Given the description of an element on the screen output the (x, y) to click on. 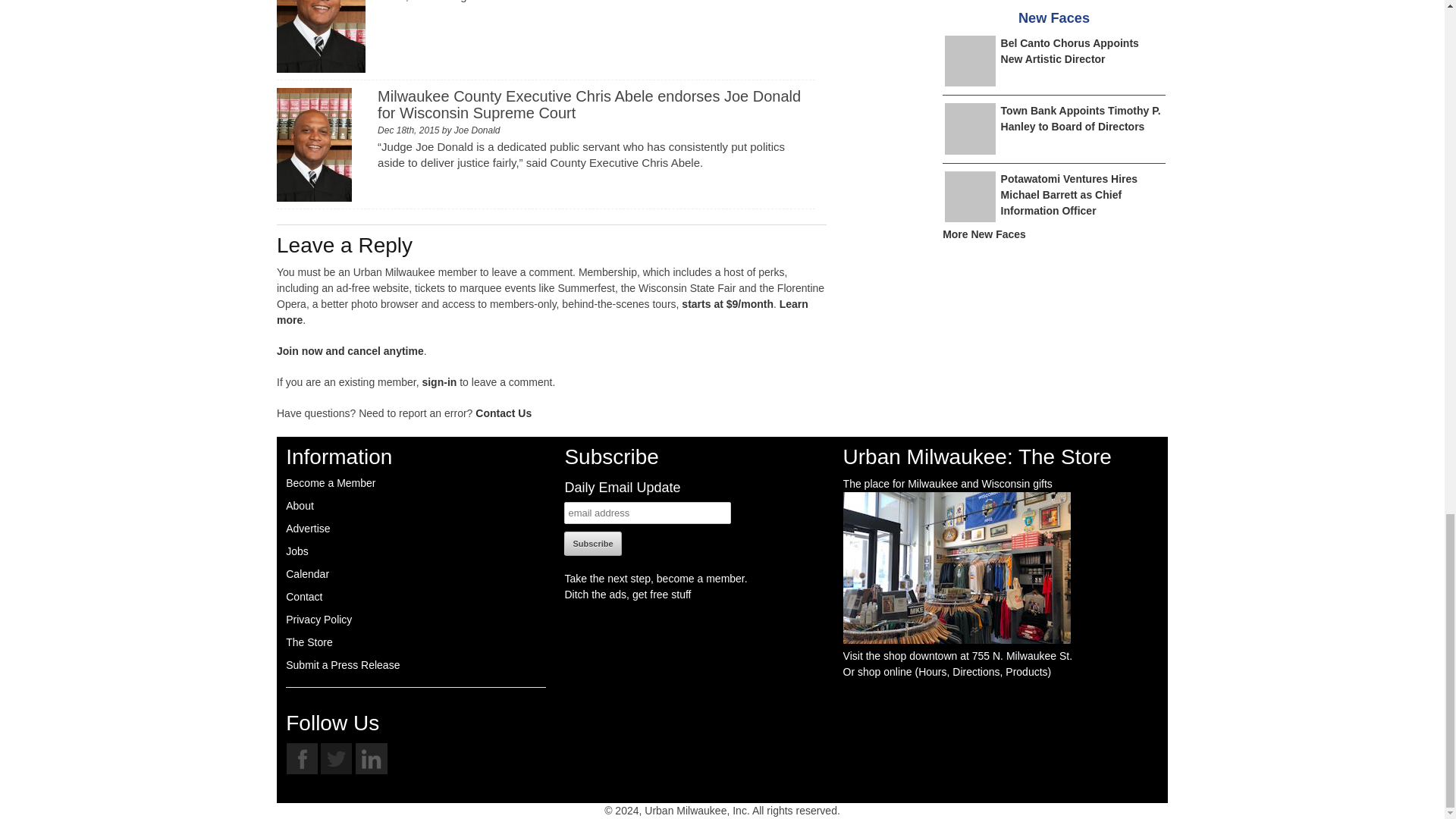
Posts by Joe Donald (477, 130)
Subscribe (592, 543)
